Given the description of an element on the screen output the (x, y) to click on. 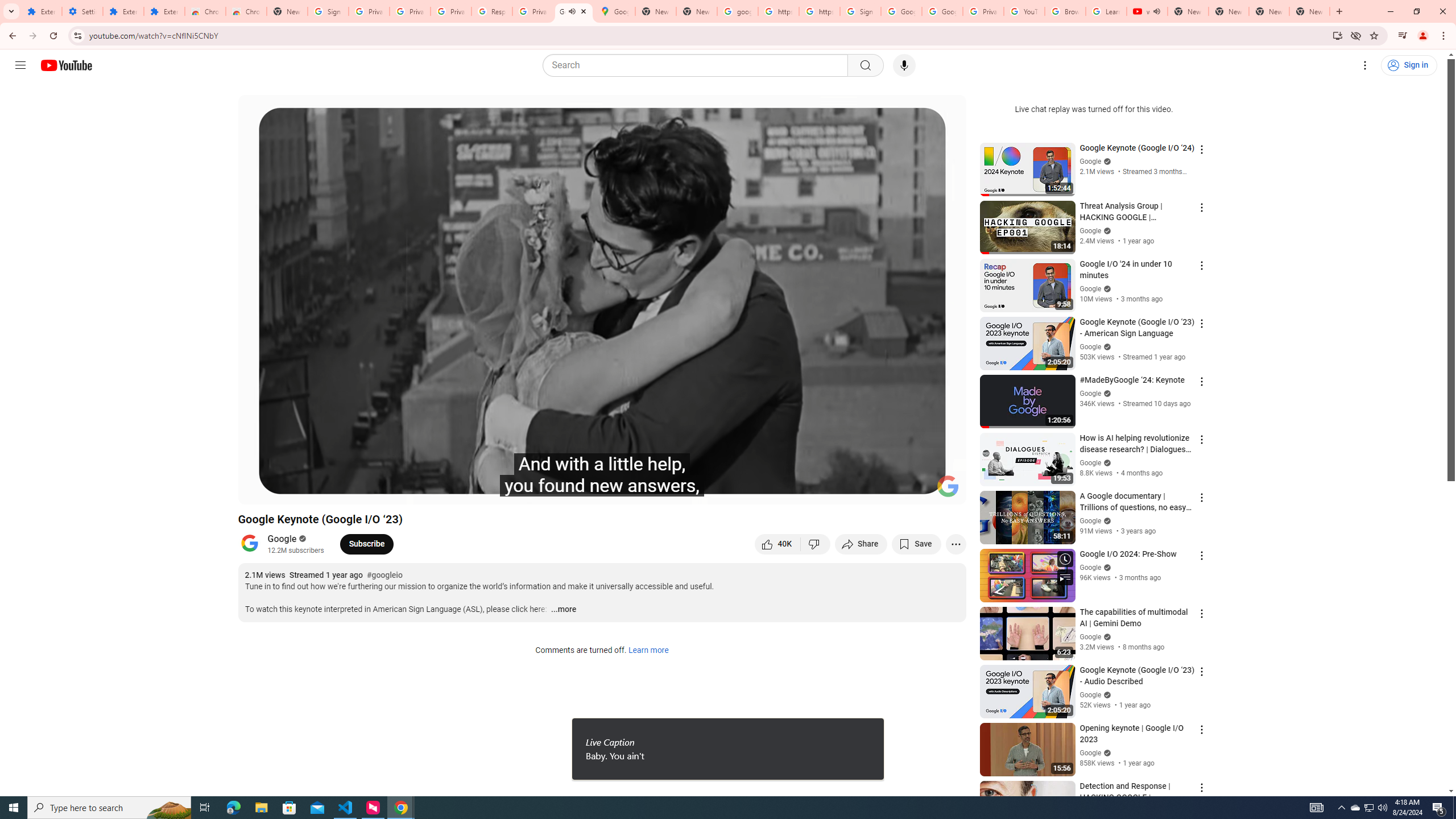
Channel watermark (947, 486)
YouTube (1023, 11)
Miniplayer (i) (890, 490)
Channel watermark (947, 486)
